Given the description of an element on the screen output the (x, y) to click on. 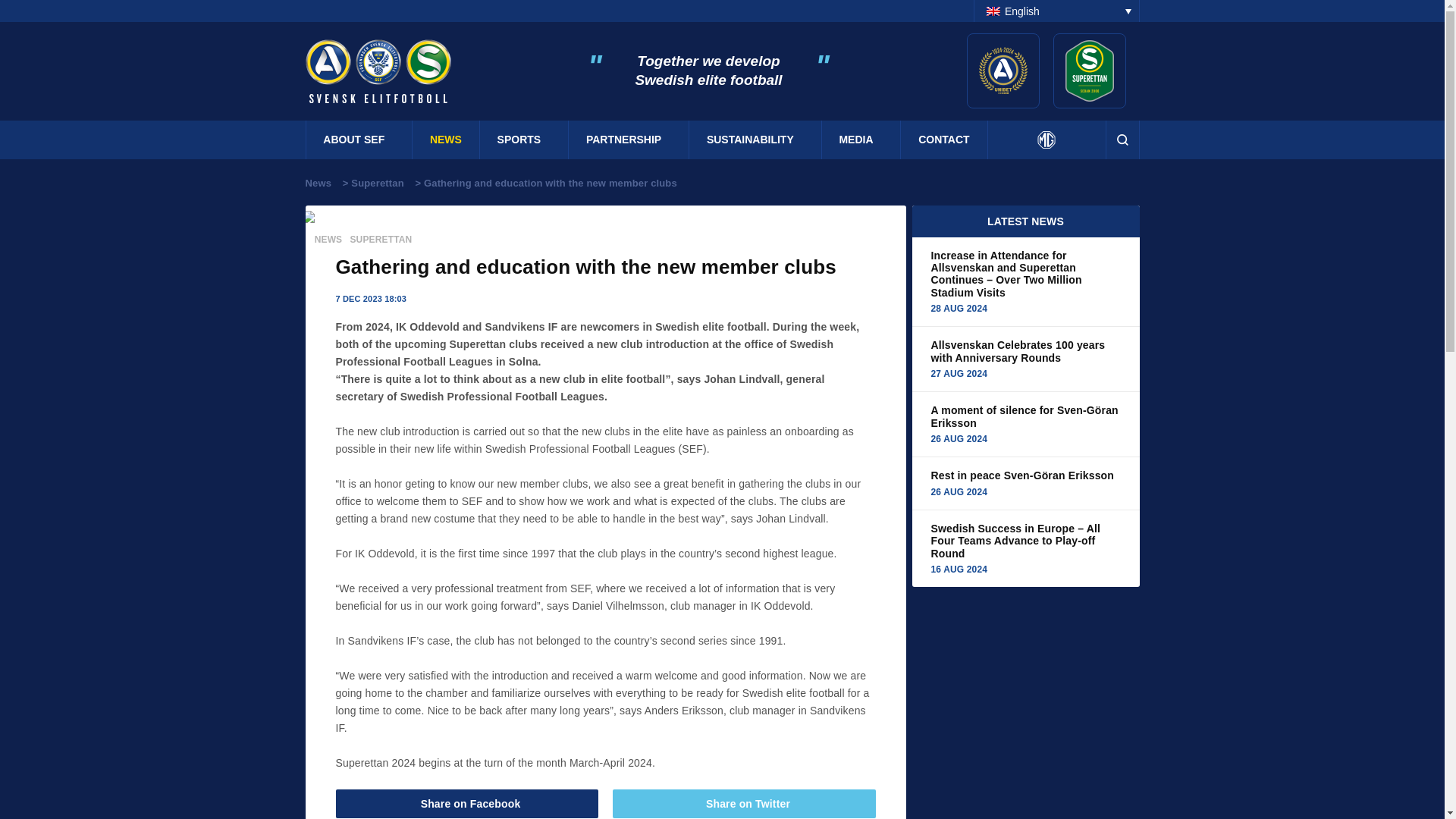
NEWS (445, 139)
English (1056, 11)
MEDIA (860, 139)
CONTACT (943, 139)
PARTNERSHIP (628, 139)
ABOUT SEF (358, 139)
SPORTS (524, 139)
SUSTAINABILITY (754, 139)
